Given the description of an element on the screen output the (x, y) to click on. 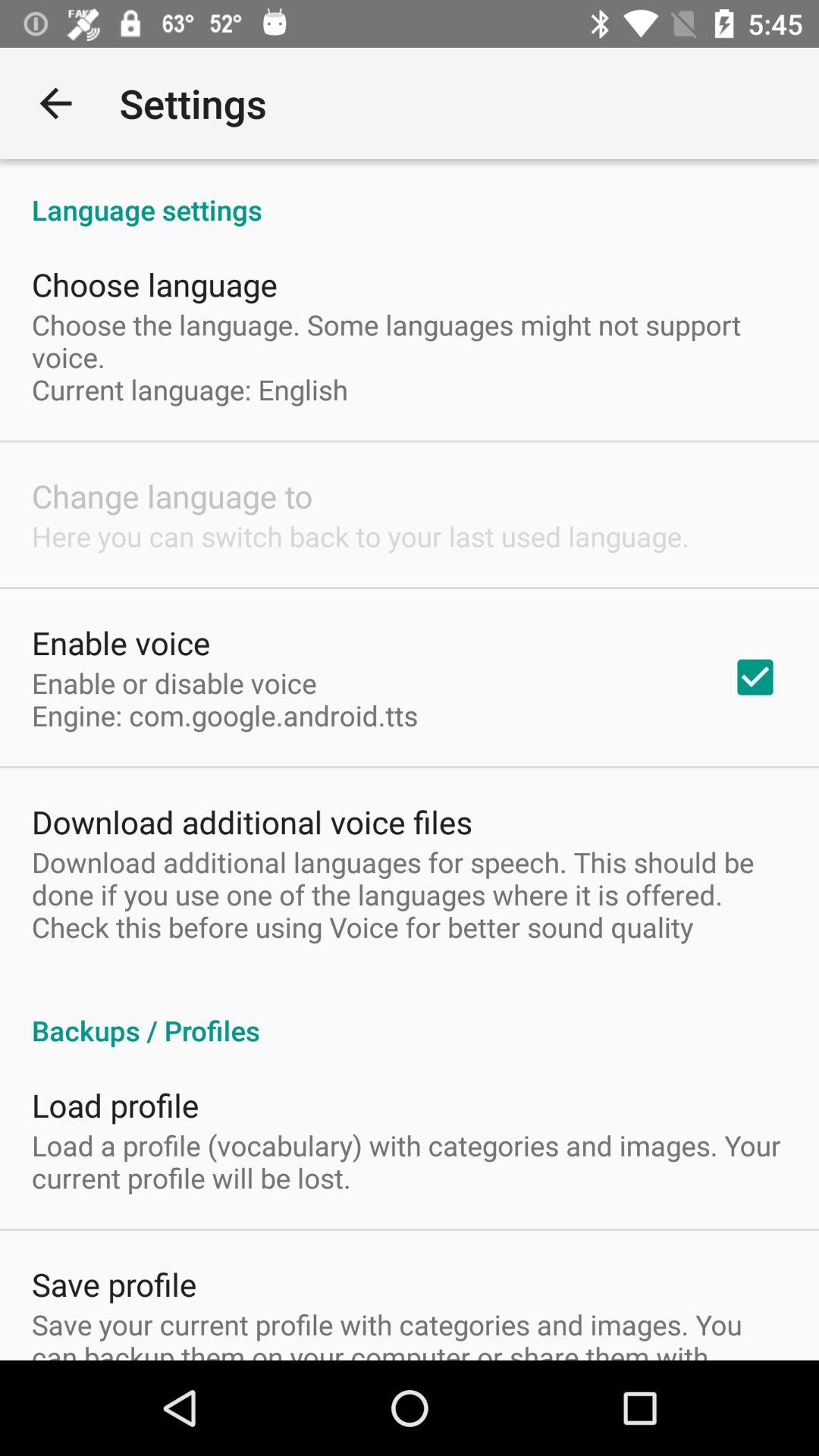
turn on item next to the enable or disable item (755, 677)
